Given the description of an element on the screen output the (x, y) to click on. 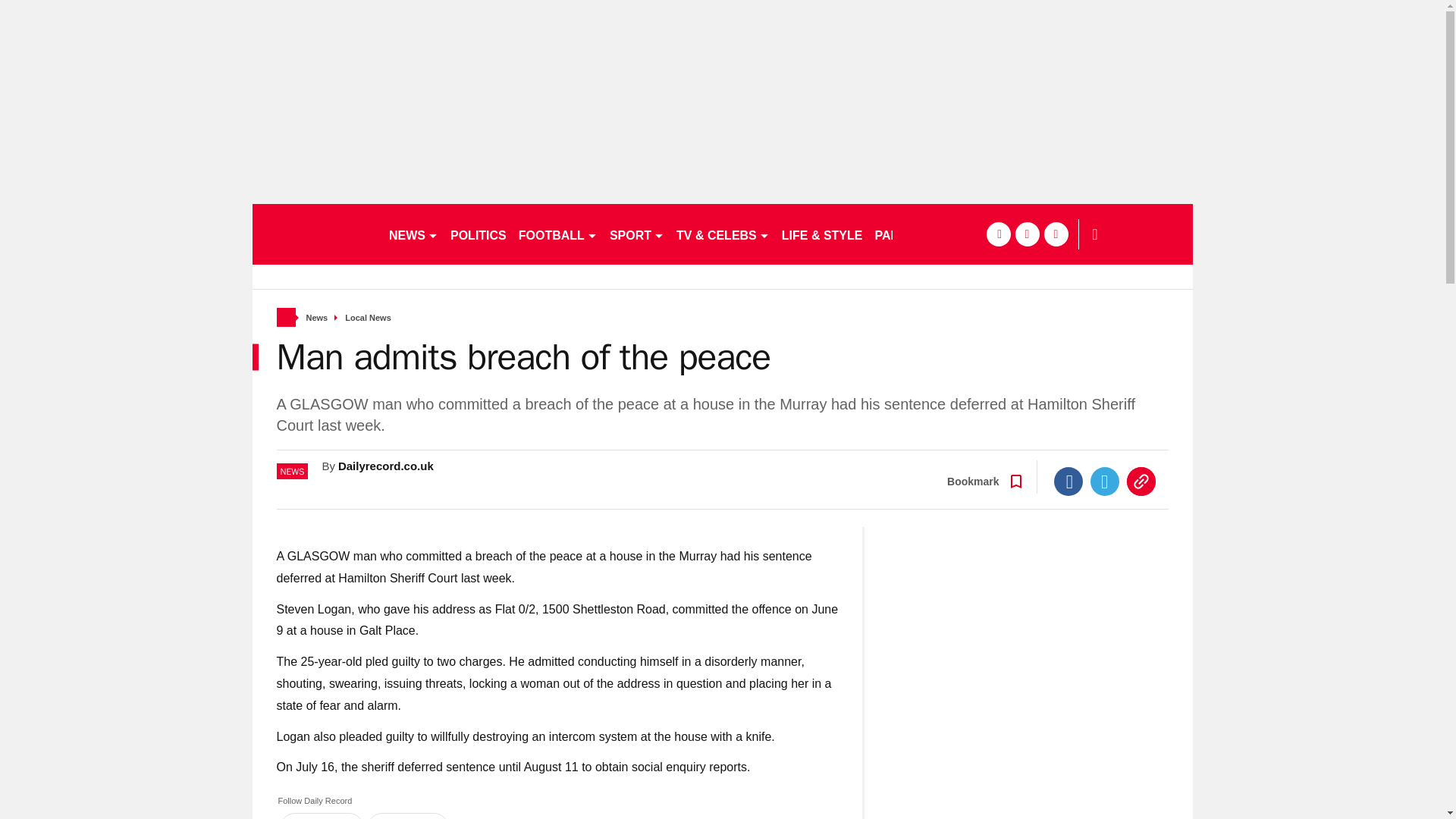
POLITICS (478, 233)
dailyrecord (313, 233)
FOOTBALL (558, 233)
NEWS (413, 233)
Facebook (1068, 481)
facebook (997, 233)
twitter (1026, 233)
instagram (1055, 233)
SPORT (636, 233)
Twitter (1104, 481)
